Given the description of an element on the screen output the (x, y) to click on. 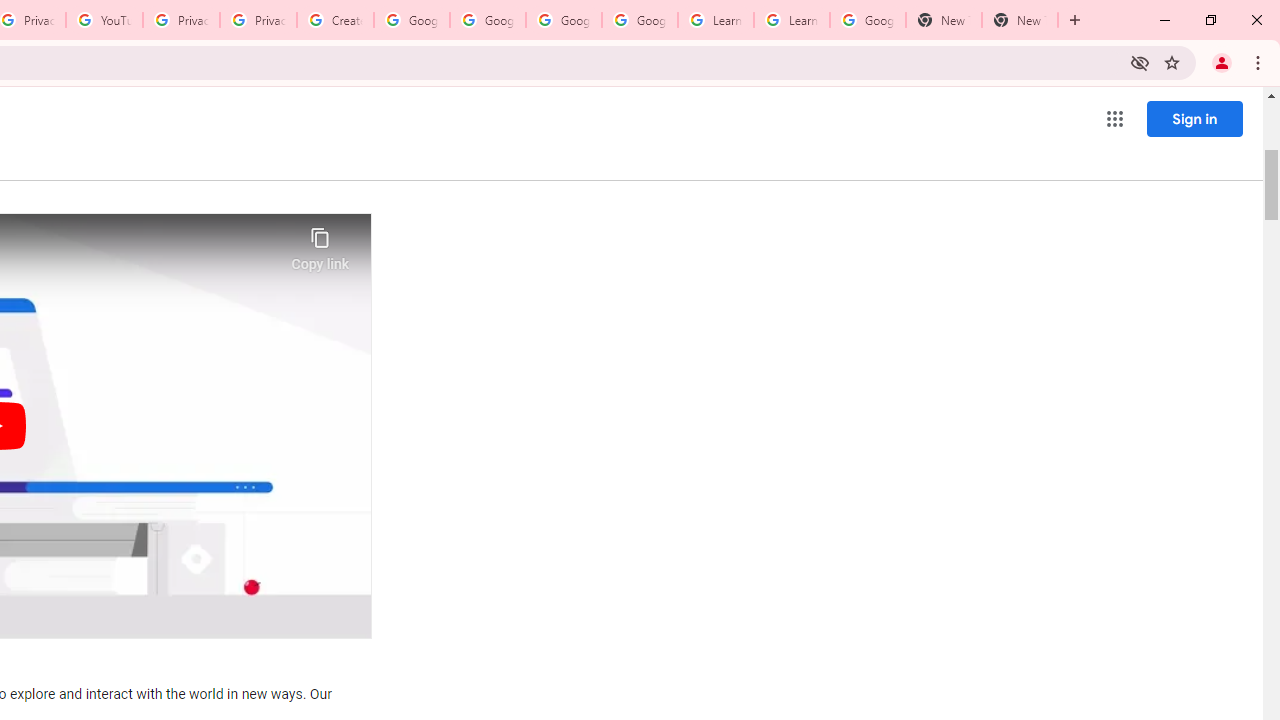
Create your Google Account (335, 20)
Google Account Help (488, 20)
Copy link (319, 244)
